Given the description of an element on the screen output the (x, y) to click on. 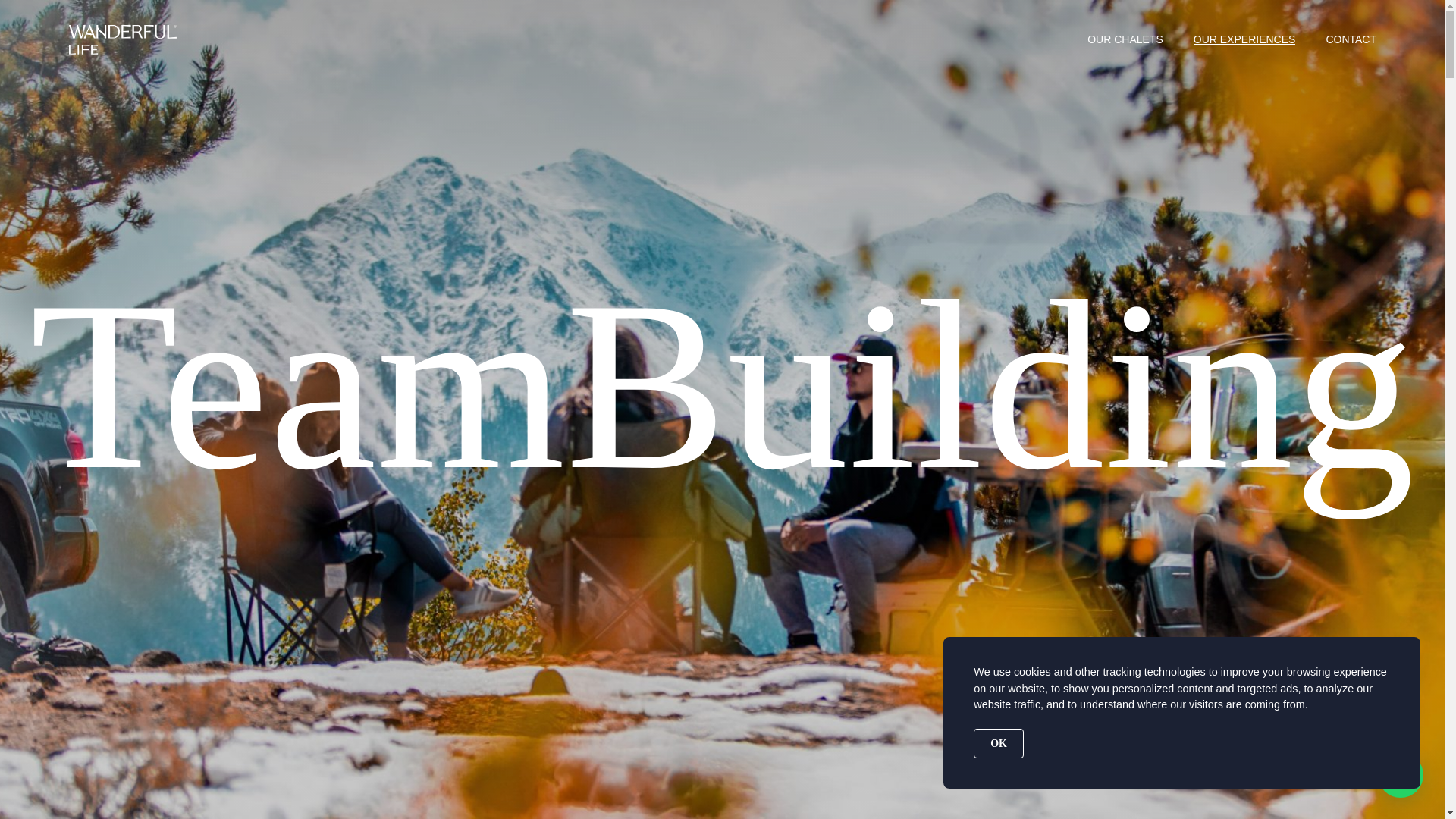
Contact (290, 767)
Rules of procedure (192, 767)
Legals (96, 767)
CONTACT (1349, 39)
Credits (1248, 762)
English (1329, 763)
OK (998, 743)
Wanderful Life (122, 40)
